Given the description of an element on the screen output the (x, y) to click on. 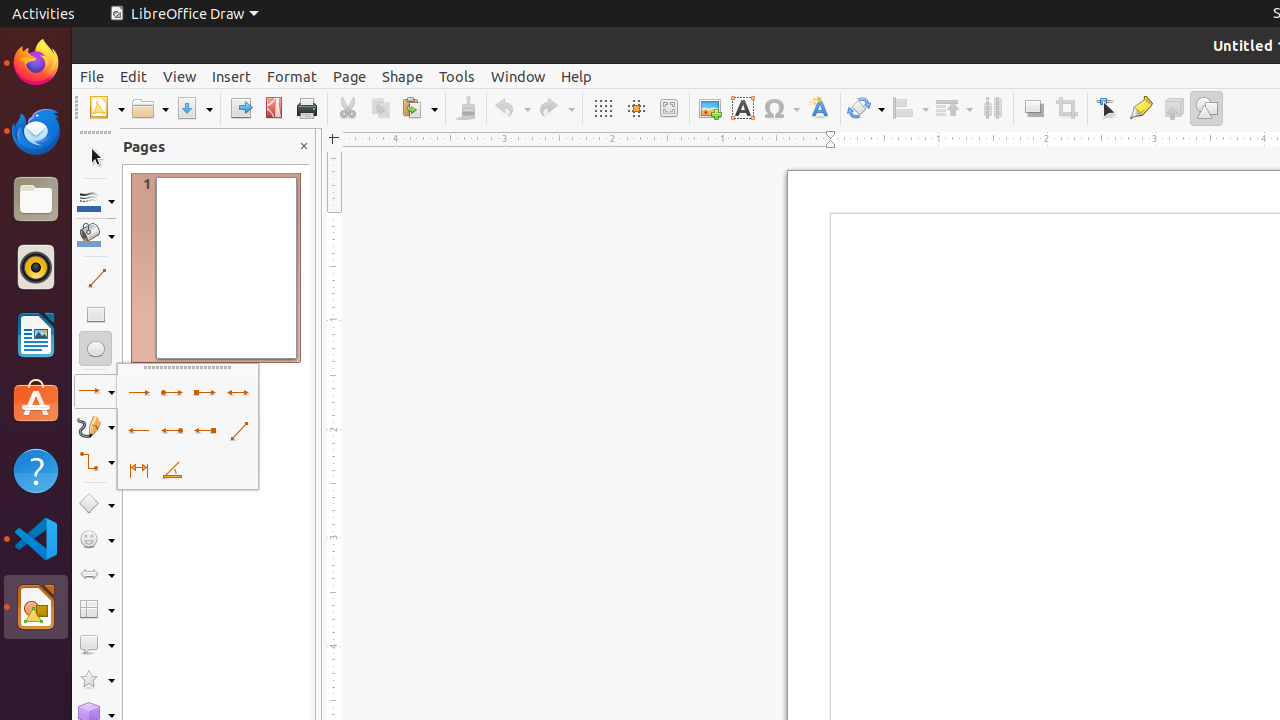
Grid Element type: toggle-button (602, 108)
Image Element type: push-button (709, 108)
Page Element type: menu (349, 76)
Visual Studio Code Element type: push-button (36, 538)
Crop Element type: push-button (1066, 108)
